Given the description of an element on the screen output the (x, y) to click on. 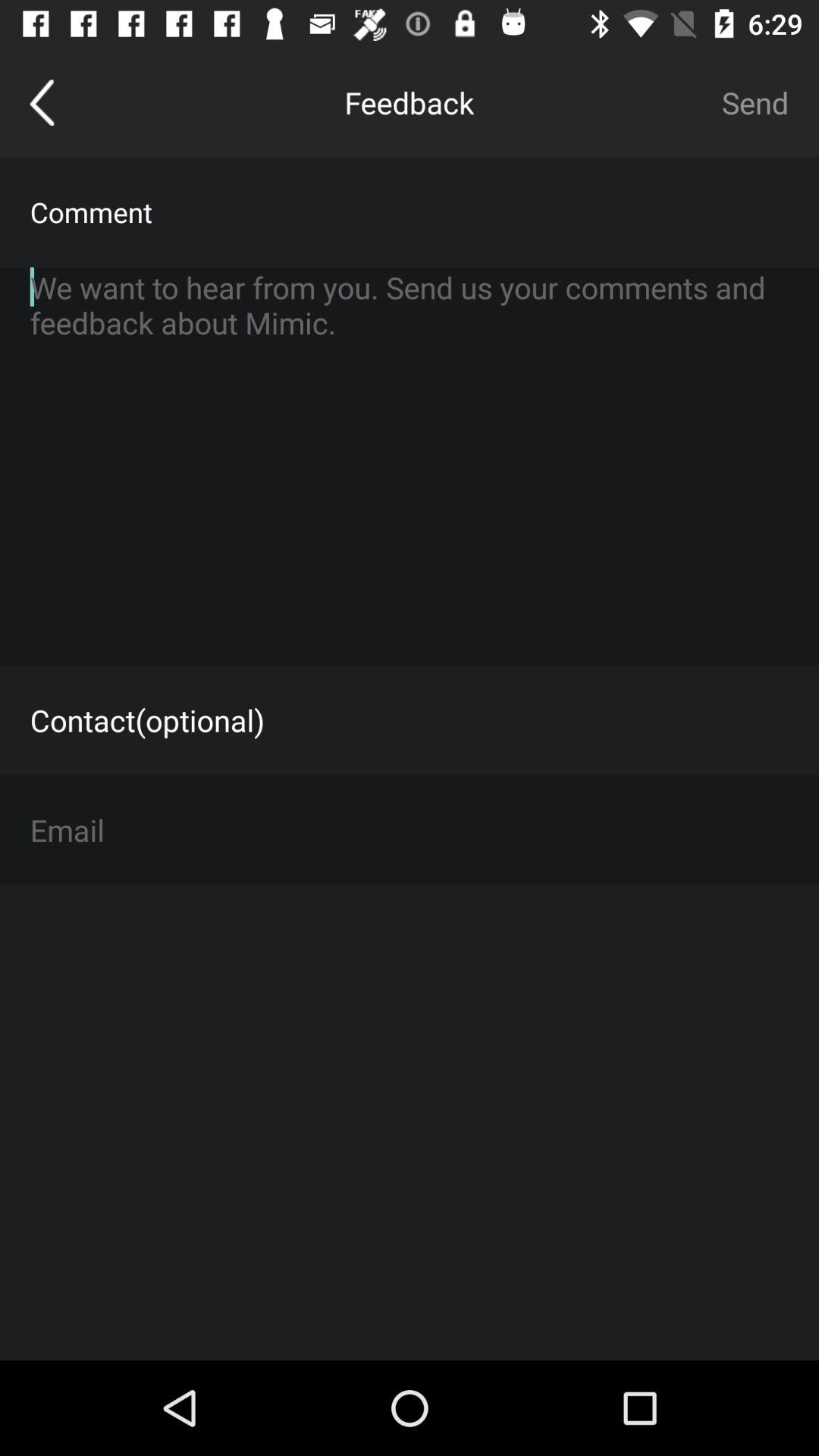
choose item next to the feedback icon (755, 102)
